Given the description of an element on the screen output the (x, y) to click on. 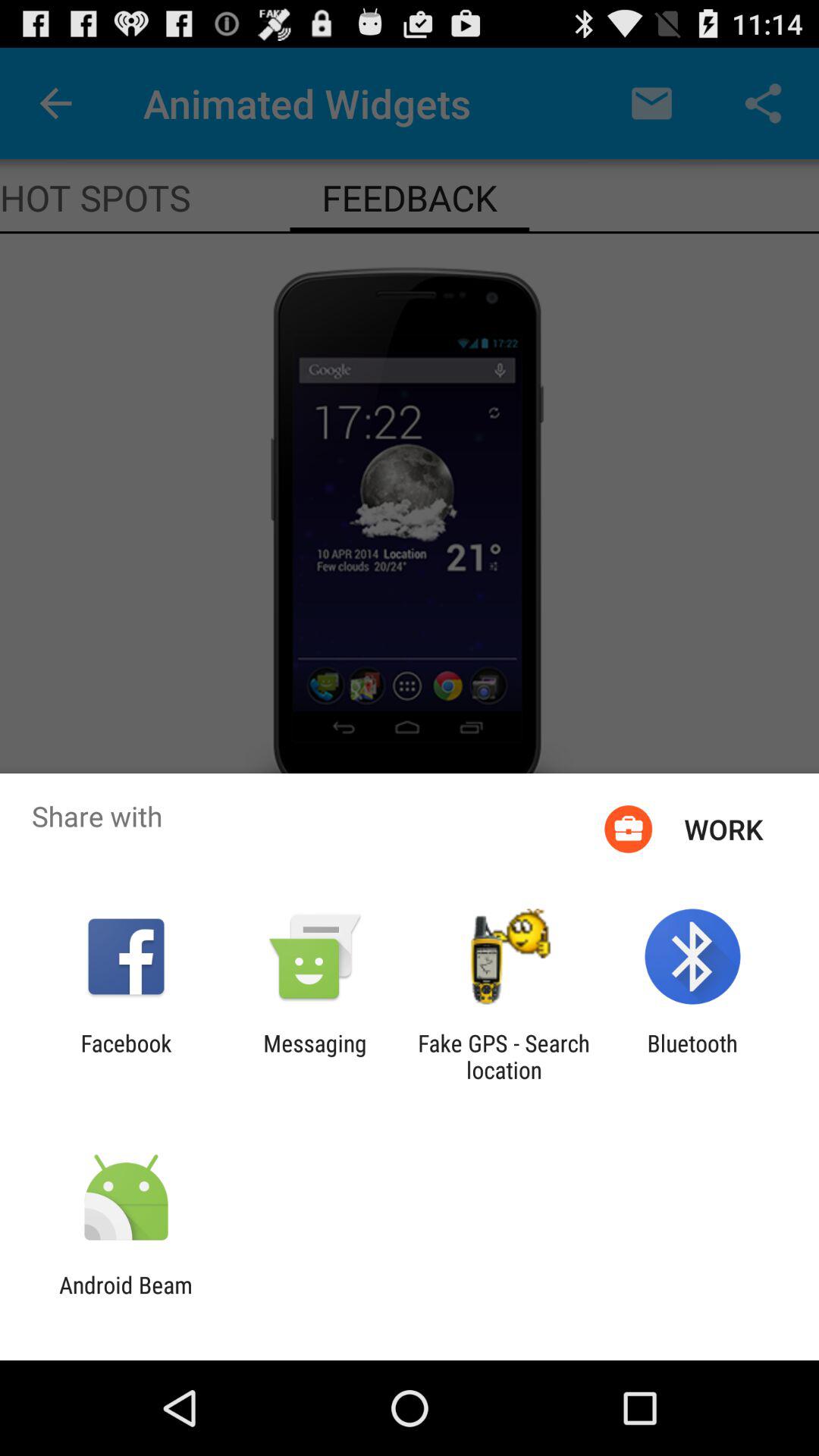
open app next to messaging icon (125, 1056)
